Given the description of an element on the screen output the (x, y) to click on. 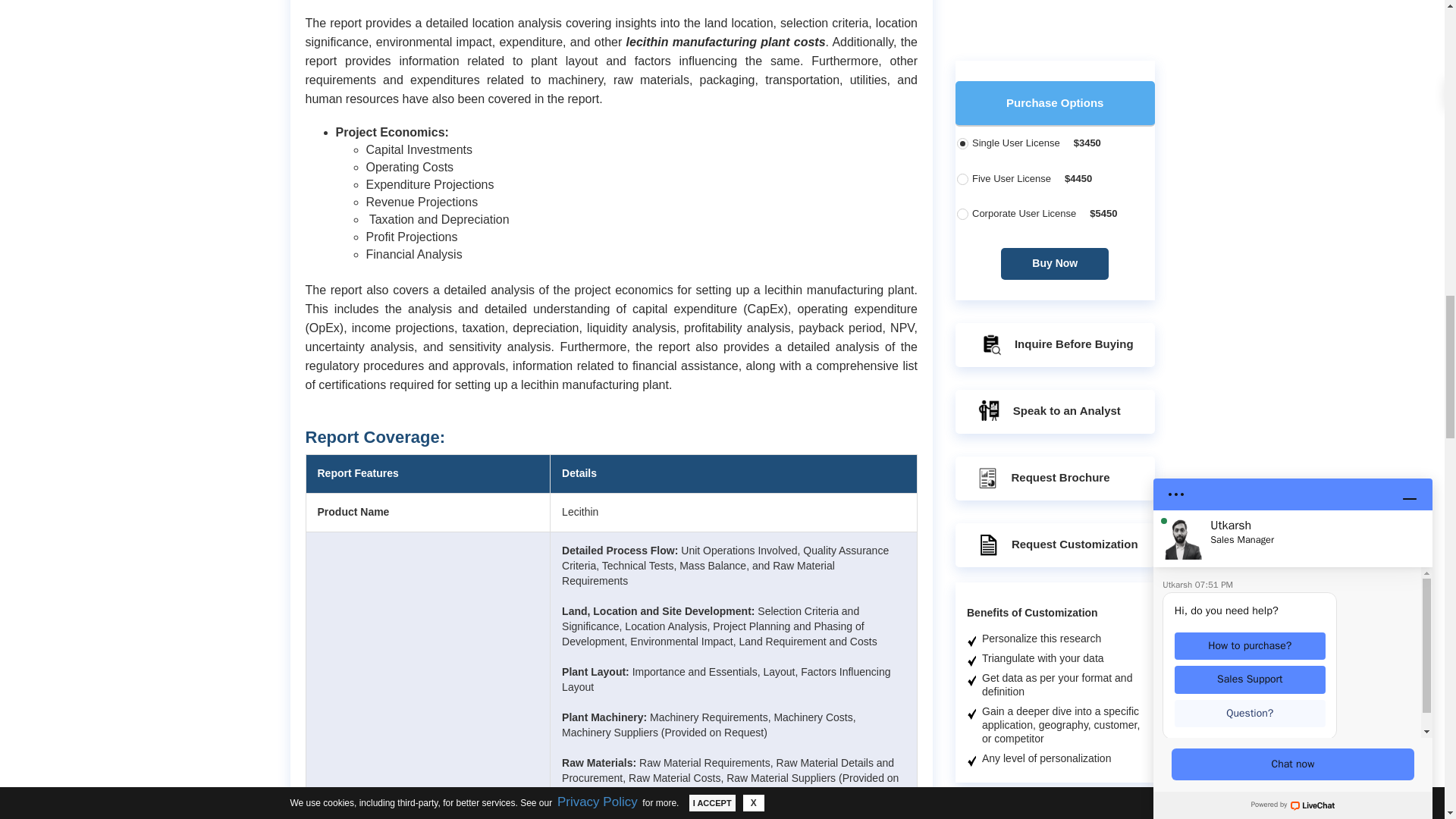
Know more (1081, 2)
